Given the description of an element on the screen output the (x, y) to click on. 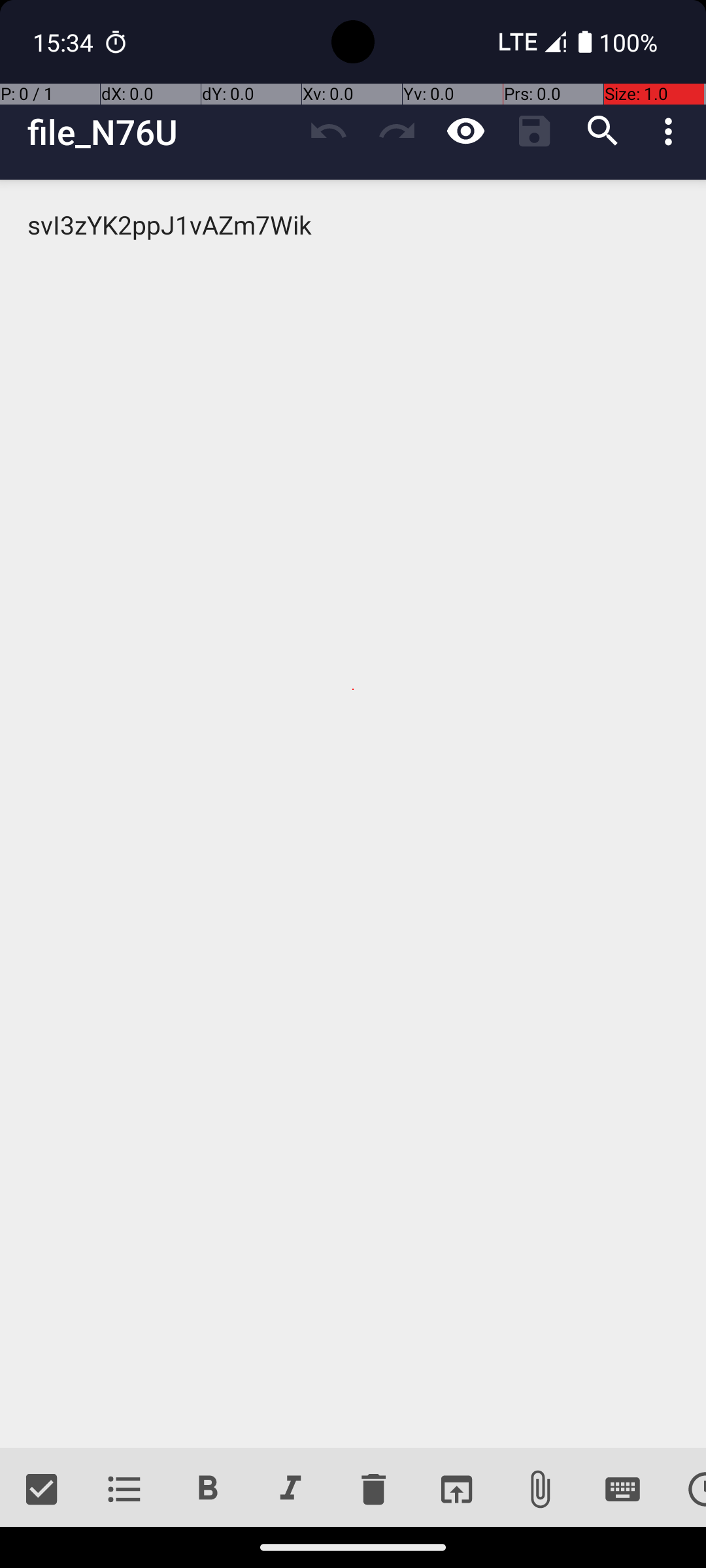
file_N76U Element type: android.widget.TextView (160, 131)
svI3zYK2ppJ1vAZm7Wik
 Element type: android.widget.EditText (353, 813)
